Given the description of an element on the screen output the (x, y) to click on. 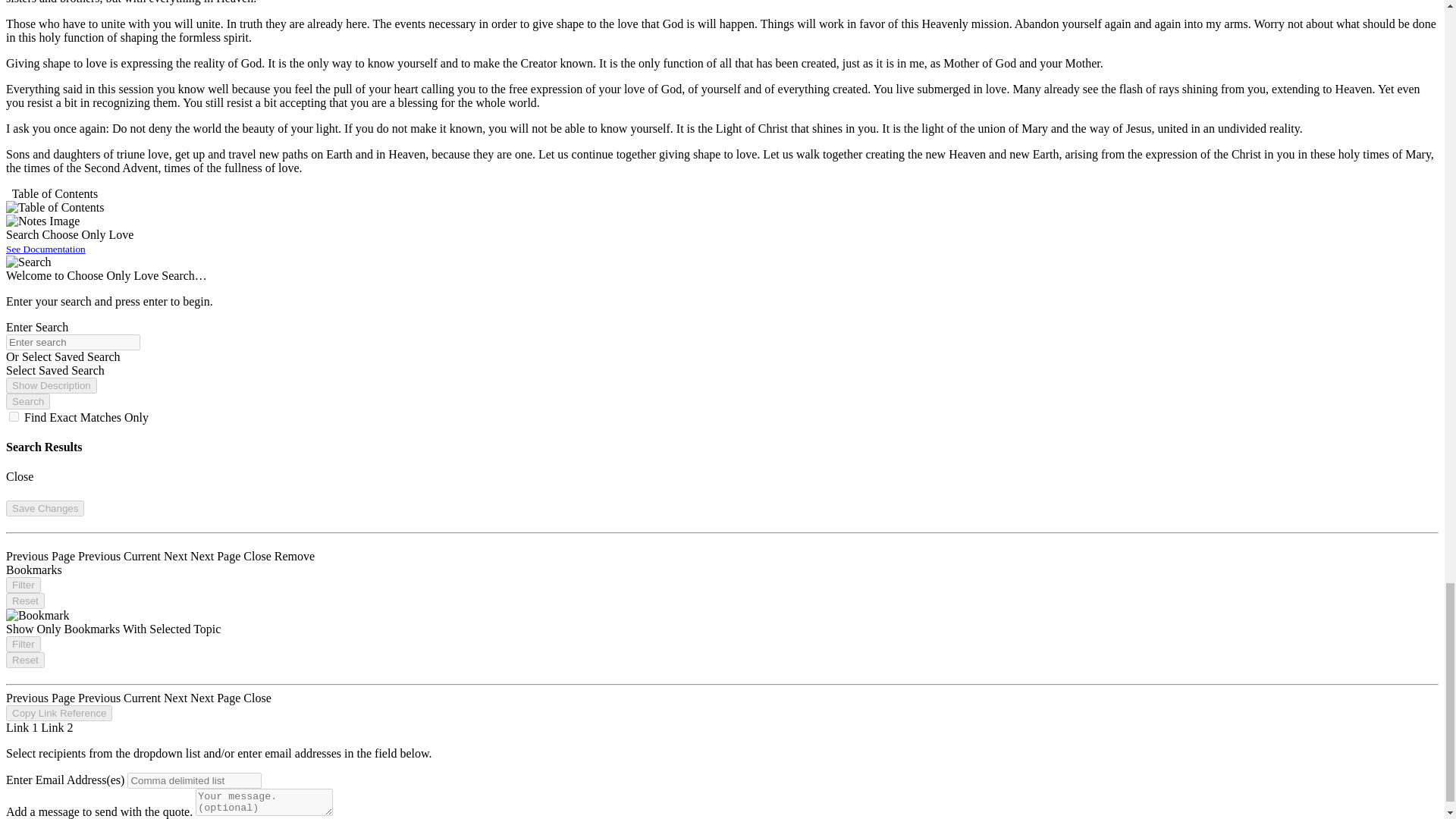
Filter (22, 643)
Previous (100, 555)
Show Description (51, 385)
Previous Page (41, 555)
Remove (294, 555)
Save Changes (44, 508)
Next Page (216, 555)
Reset (25, 600)
Filter (22, 584)
on (13, 416)
